Given the description of an element on the screen output the (x, y) to click on. 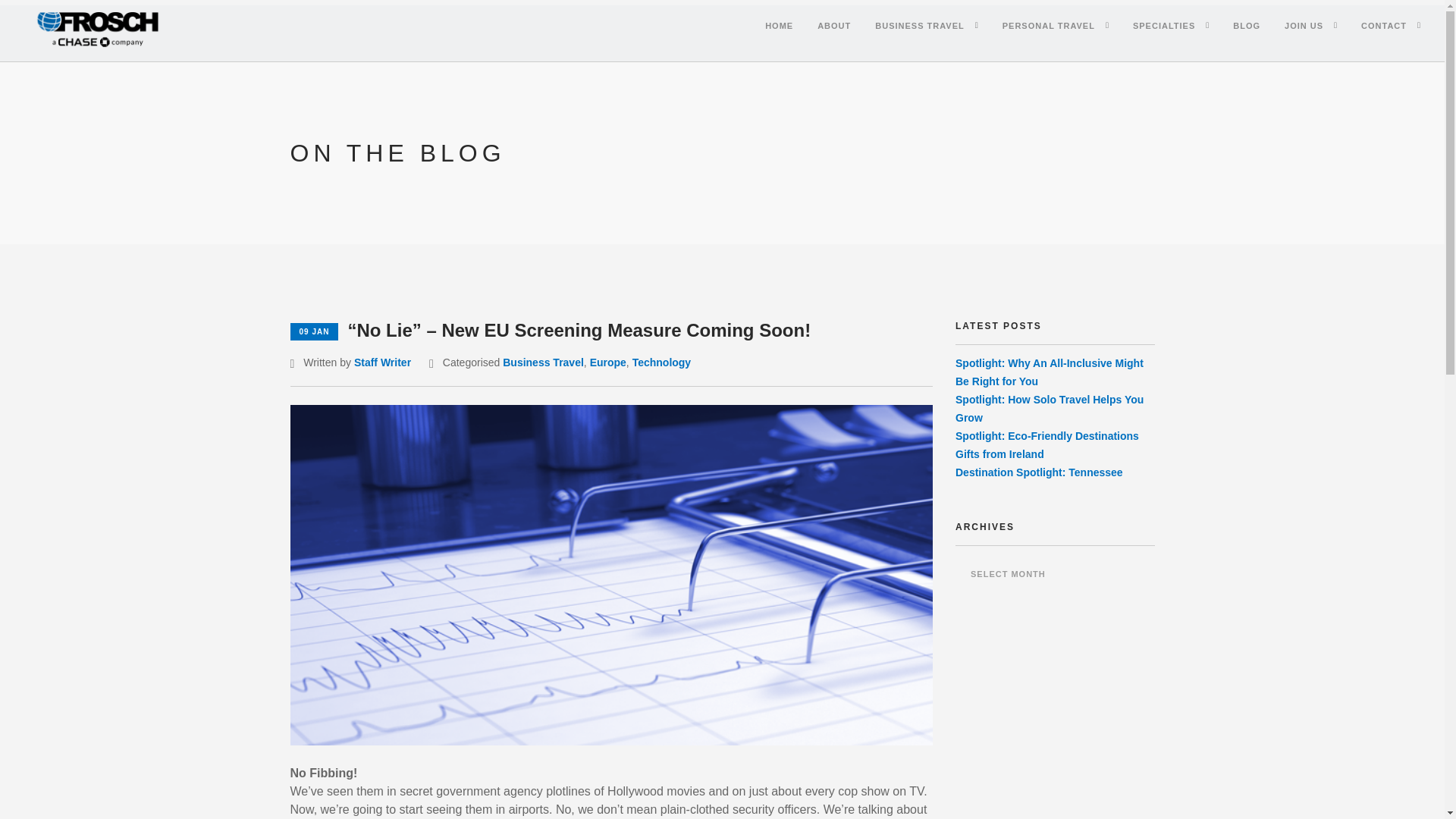
Spotlight: How Solo Travel Helps You Grow (1048, 408)
CONTACT (1383, 26)
BUSINESS TRAVEL (919, 26)
Spotlight: Eco-Friendly Destinations (1046, 435)
PERSONAL TRAVEL (1048, 26)
Spotlight: Why An All-Inclusive Might Be Right for You (1048, 372)
Europe (607, 362)
SPECIALTIES (1163, 26)
Technology (661, 362)
JOIN US (1303, 26)
Gifts from Ireland (999, 453)
Business Travel (542, 362)
Posts by Staff Writer (381, 362)
Destination Spotlight: Tennessee (1038, 472)
Staff Writer (381, 362)
